Given the description of an element on the screen output the (x, y) to click on. 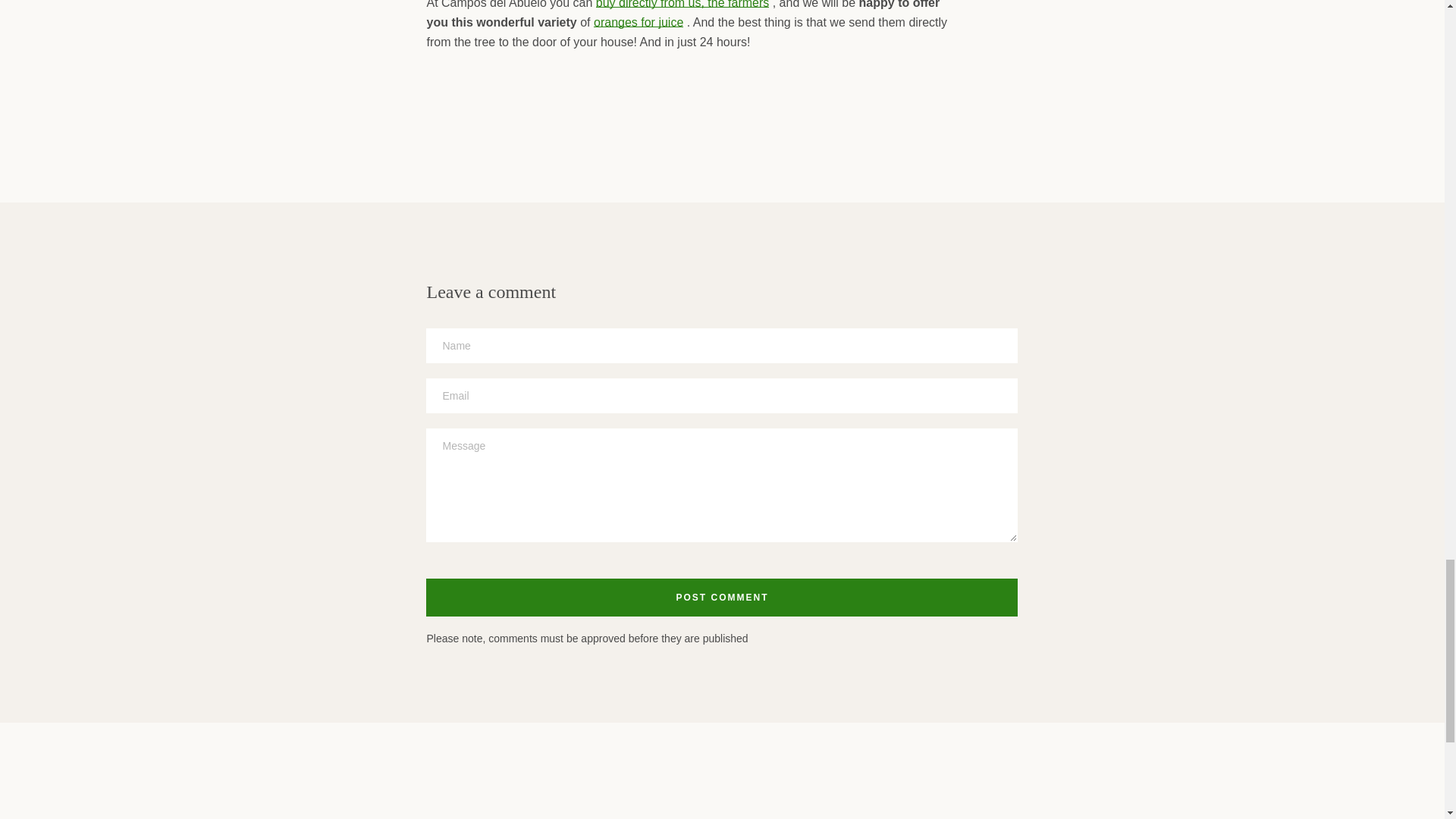
Post comment (721, 597)
